Given the description of an element on the screen output the (x, y) to click on. 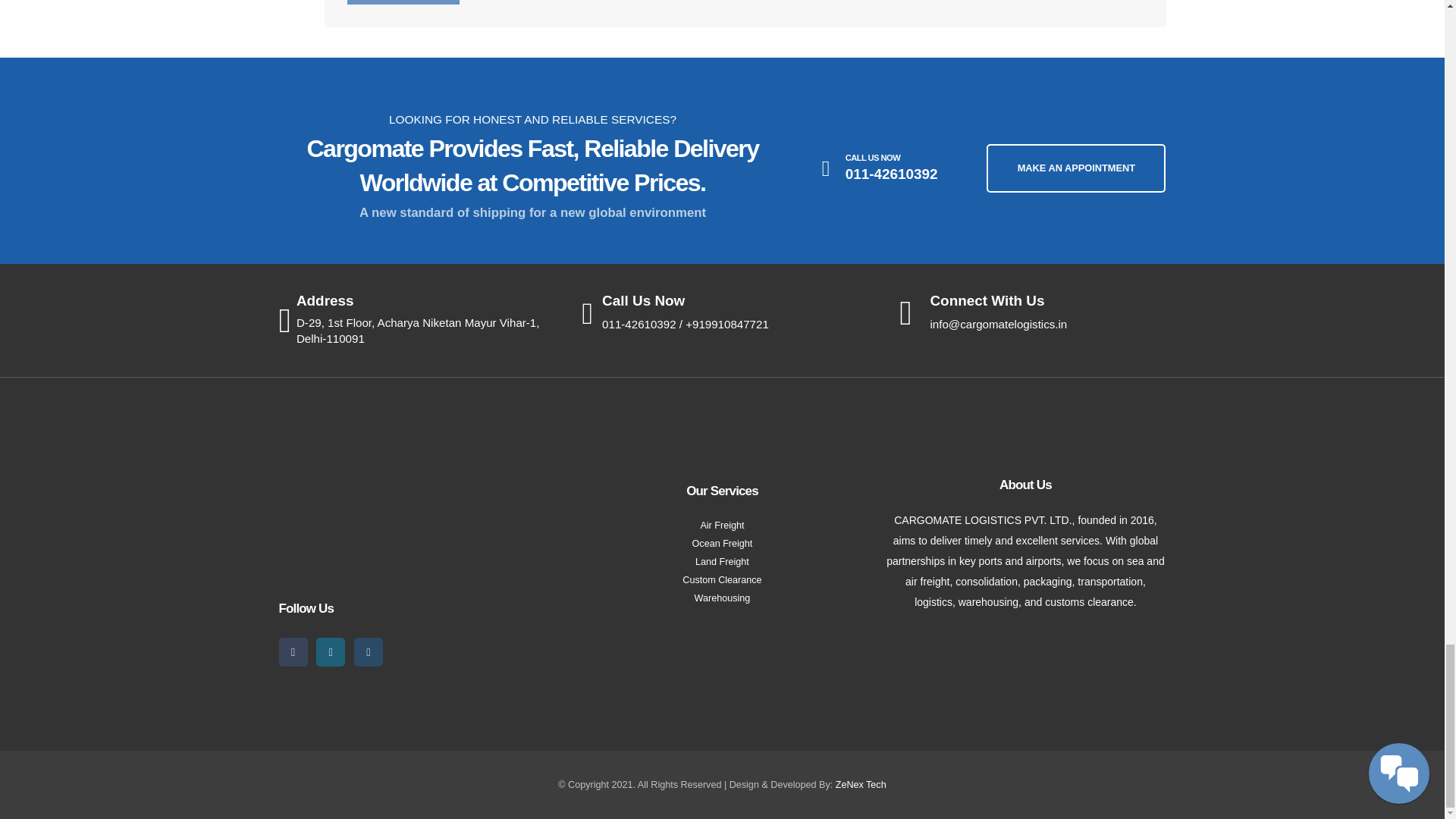
Post Comment (403, 2)
